Given the description of an element on the screen output the (x, y) to click on. 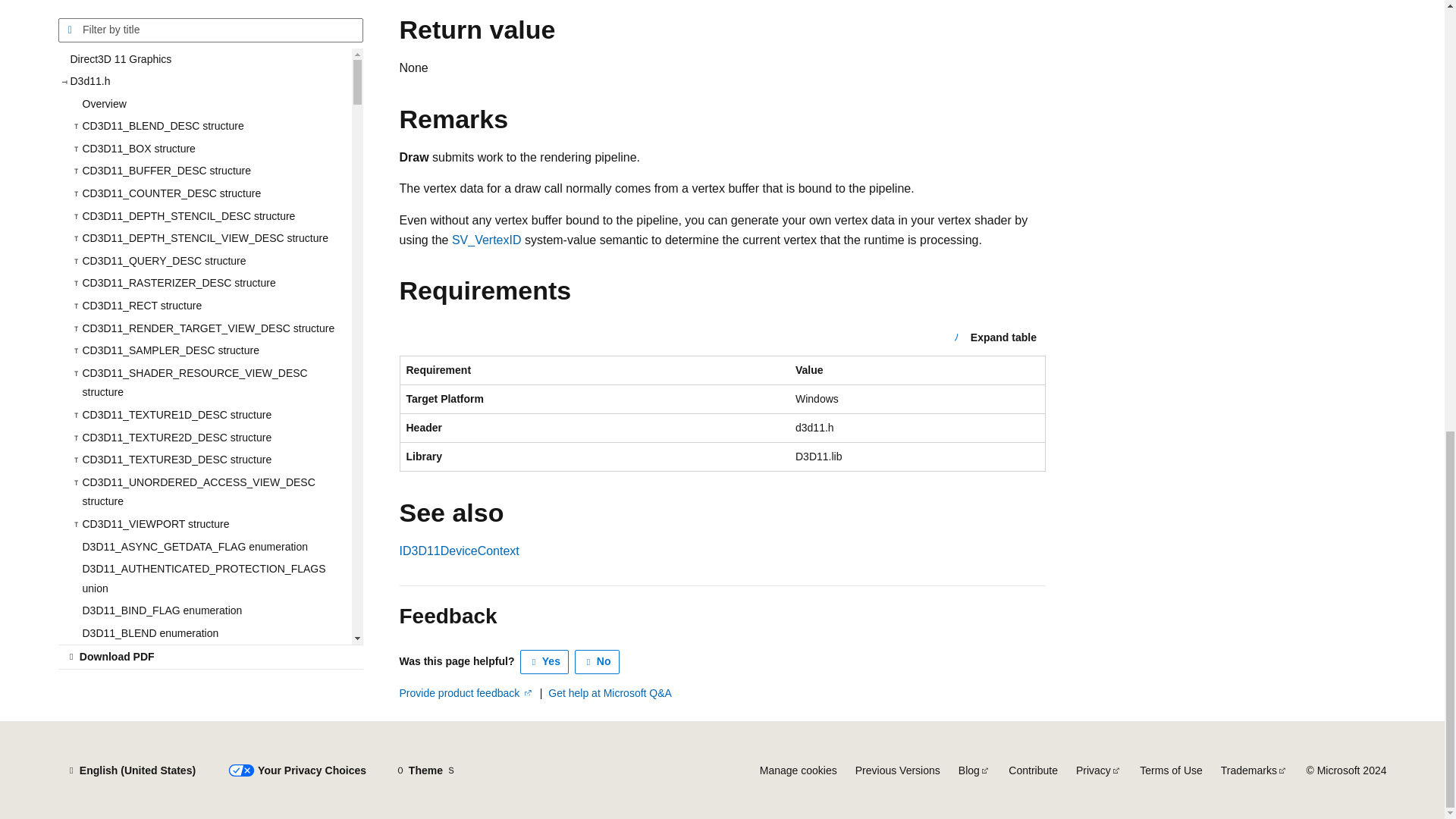
Theme (425, 770)
This article is not helpful (597, 662)
This article is helpful (544, 662)
